Given the description of an element on the screen output the (x, y) to click on. 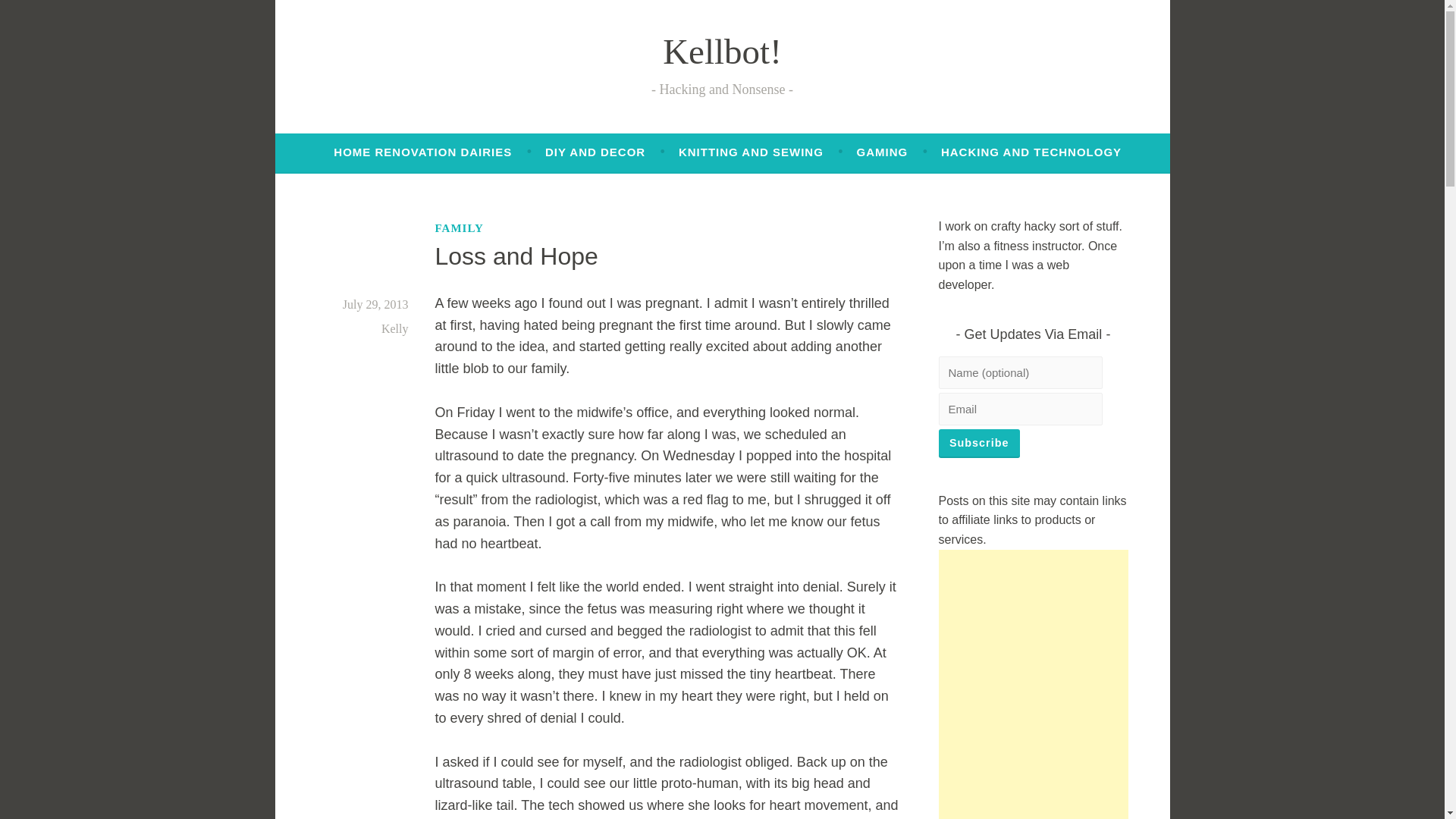
GAMING (882, 152)
subscribe (979, 443)
Kelly (395, 328)
KNITTING AND SEWING (751, 152)
DIY AND DECOR (594, 152)
Search (37, 15)
HOME RENOVATION DAIRIES (422, 152)
Kellbot! (721, 51)
FAMILY (459, 228)
HACKING AND TECHNOLOGY (1030, 152)
subscribe (979, 443)
July 29, 2013 (375, 304)
